Given the description of an element on the screen output the (x, y) to click on. 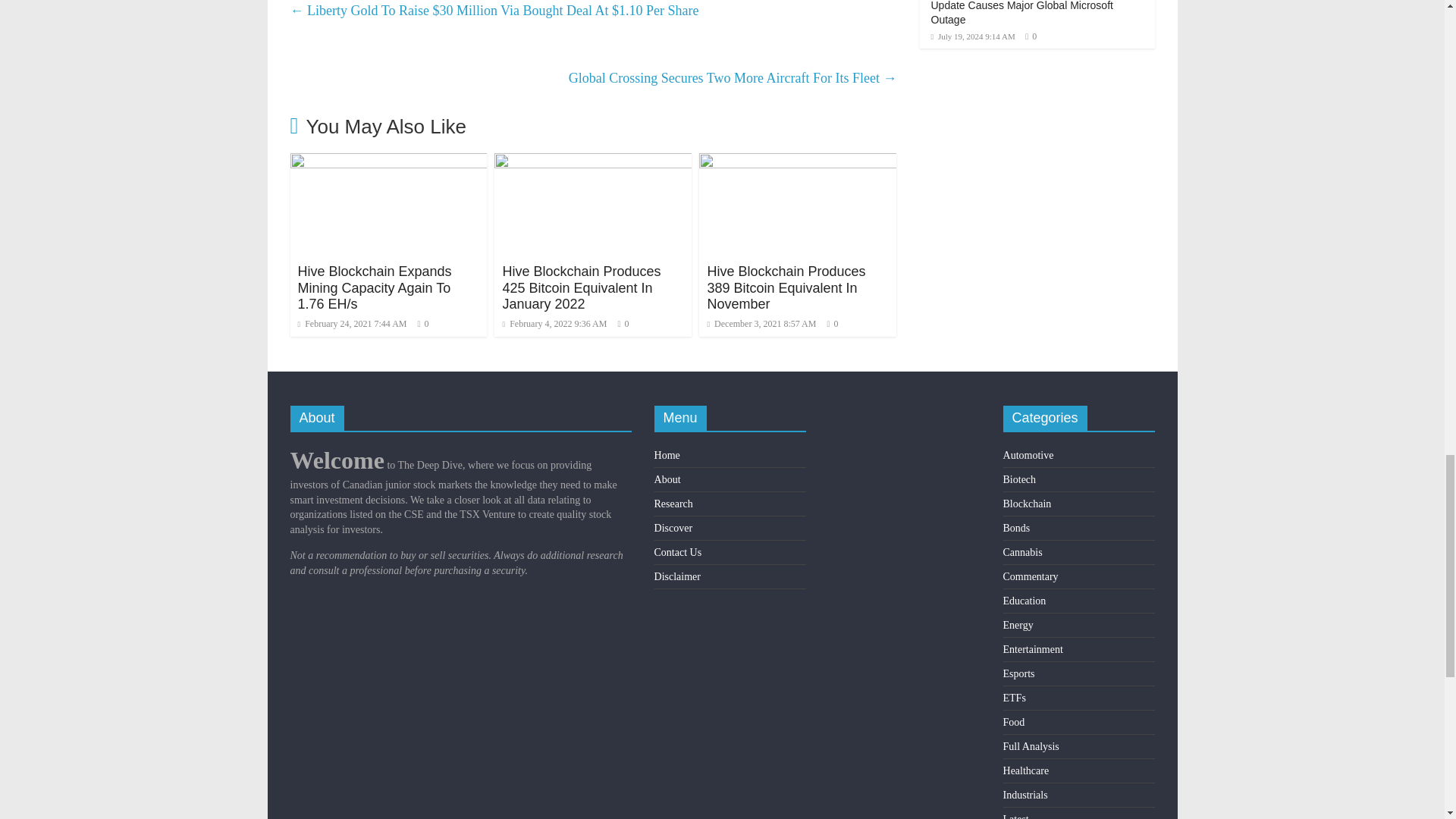
7:44 am (351, 323)
